Given the description of an element on the screen output the (x, y) to click on. 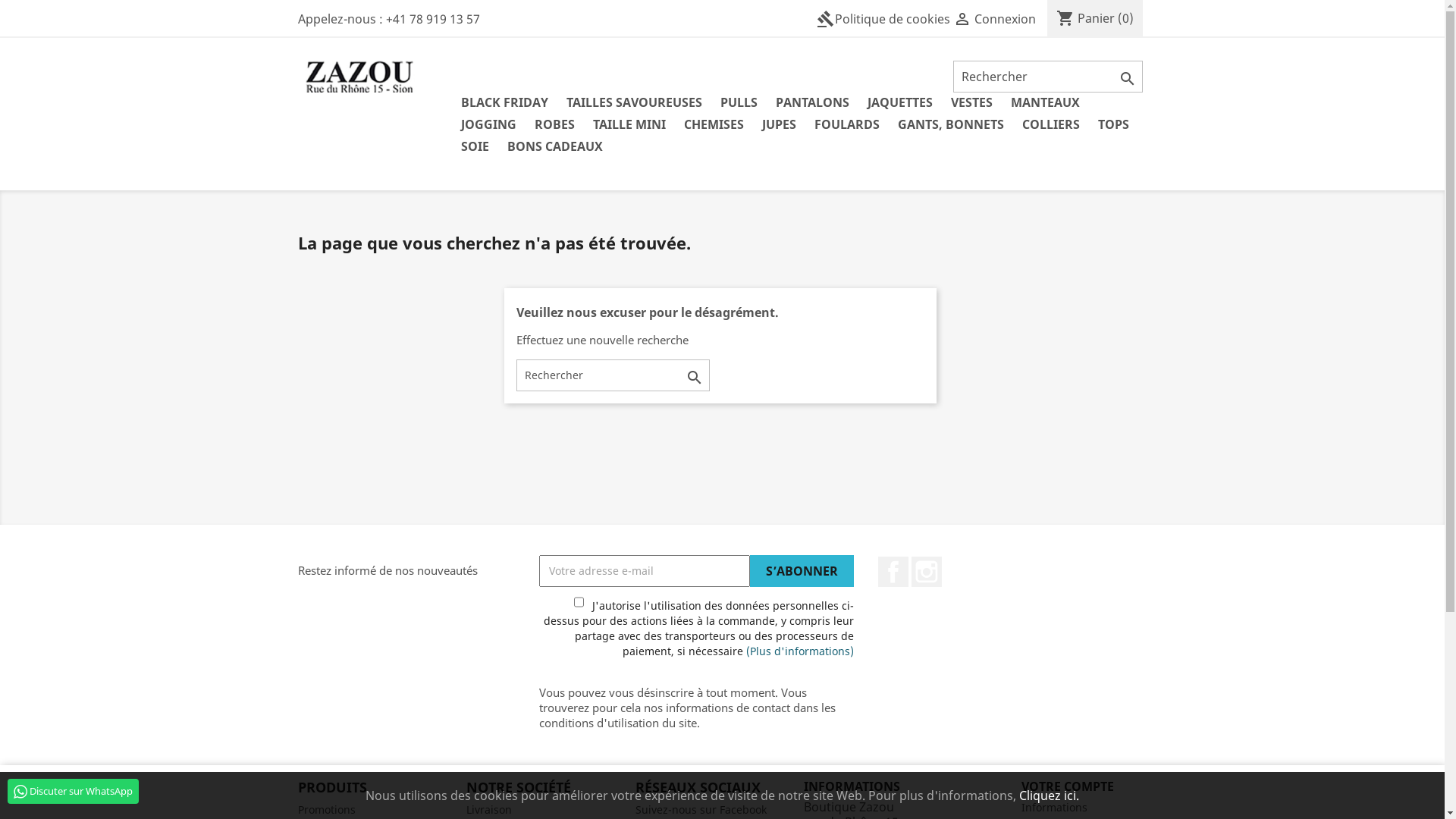
TAILLES SAVOUREUSES Element type: text (633, 103)
VOTRE COMPTE Element type: text (1067, 786)
CHEMISES Element type: text (713, 125)
Livraison Element type: text (488, 809)
ROBES Element type: text (554, 125)
Suivez-nous sur Facebook Element type: text (700, 809)
Promotions Element type: text (325, 809)
Cliquez ici. Element type: text (1049, 795)
BONS CADEAUX Element type: text (554, 147)
TOPS Element type: text (1113, 125)
TAILLE MINI Element type: text (629, 125)
(Plus d'informations) Element type: text (799, 650)
JUPES Element type: text (778, 125)
JAQUETTES Element type: text (899, 103)
FOULARDS Element type: text (846, 125)
PANTALONS Element type: text (812, 103)
VESTES Element type: text (971, 103)
PULLS Element type: text (738, 103)
SOIE Element type: text (474, 147)
Facebook Element type: text (893, 571)
MANTEAUX Element type: text (1045, 103)
COLLIERS Element type: text (1050, 125)
BLACK FRIDAY Element type: text (504, 103)
GANTS, BONNETS Element type: text (950, 125)
JOGGING Element type: text (488, 125)
Instagram Element type: text (926, 571)
gavelPolitique de cookies Element type: text (883, 18)
